Given the description of an element on the screen output the (x, y) to click on. 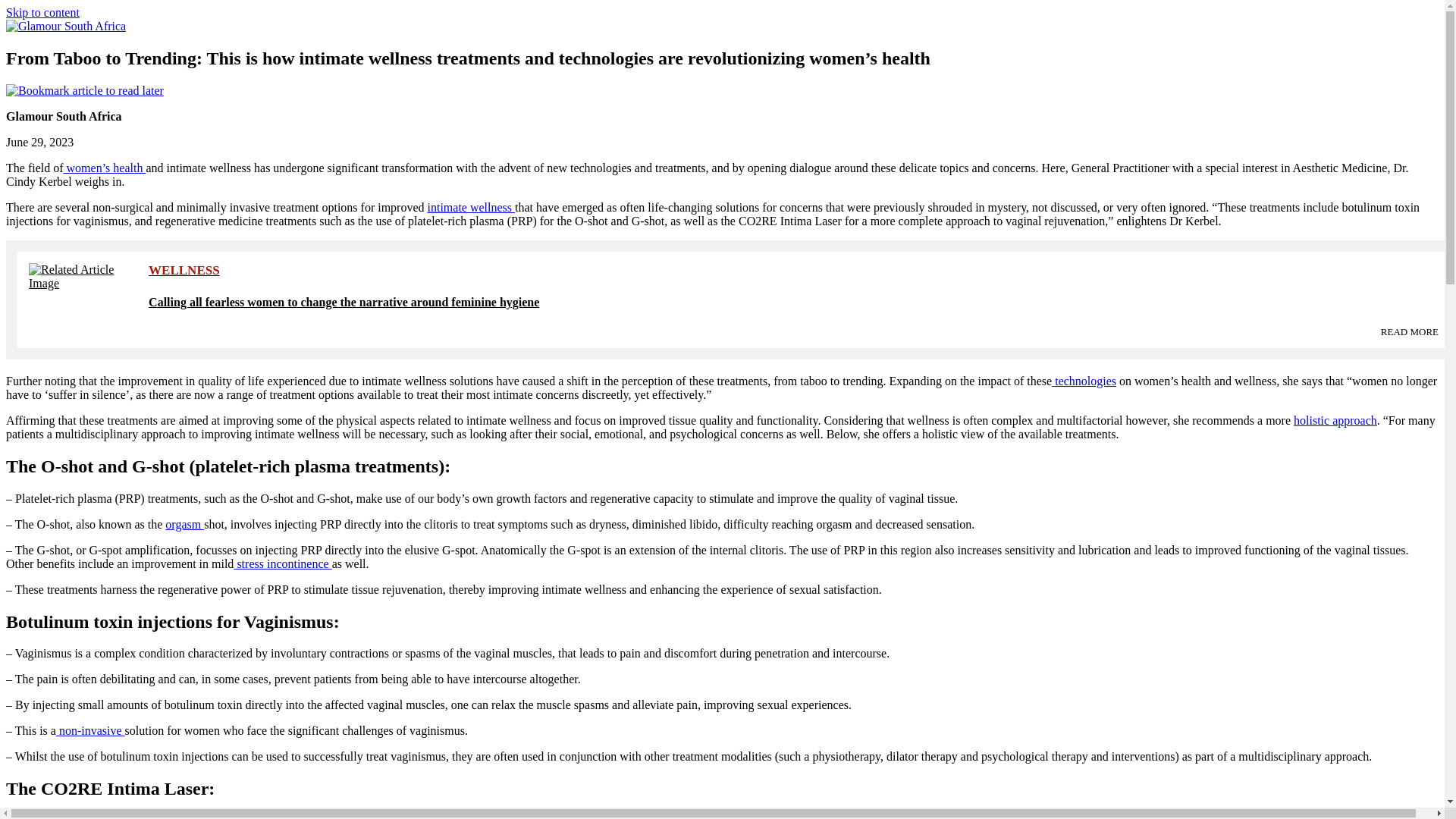
stress incontinence (281, 563)
non-invasive (90, 730)
technologies (1083, 380)
Skip to content (42, 11)
holistic approach (1335, 420)
intimate wellness (471, 206)
orgasm (184, 523)
